Given the description of an element on the screen output the (x, y) to click on. 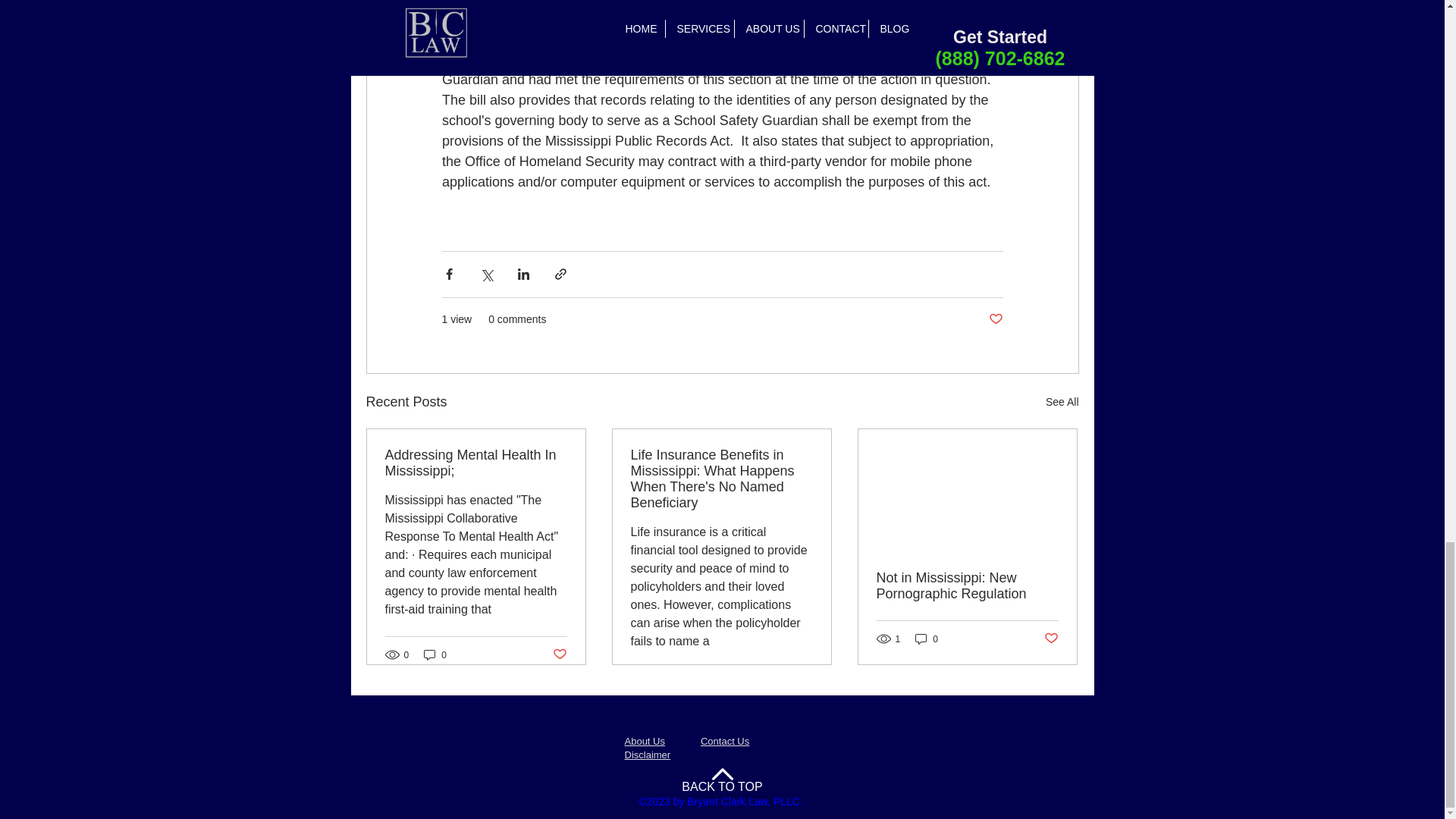
See All (1061, 402)
0 (435, 654)
Disclaimer (647, 754)
Addressing Mental Health In Mississippi; (476, 463)
Post not marked as liked (995, 319)
Contact Us (724, 740)
About Us (644, 740)
Not in Mississippi: New Pornographic Regulation (967, 585)
Post not marked as liked (1050, 638)
Post not marked as liked (558, 654)
0 (926, 638)
